Given the description of an element on the screen output the (x, y) to click on. 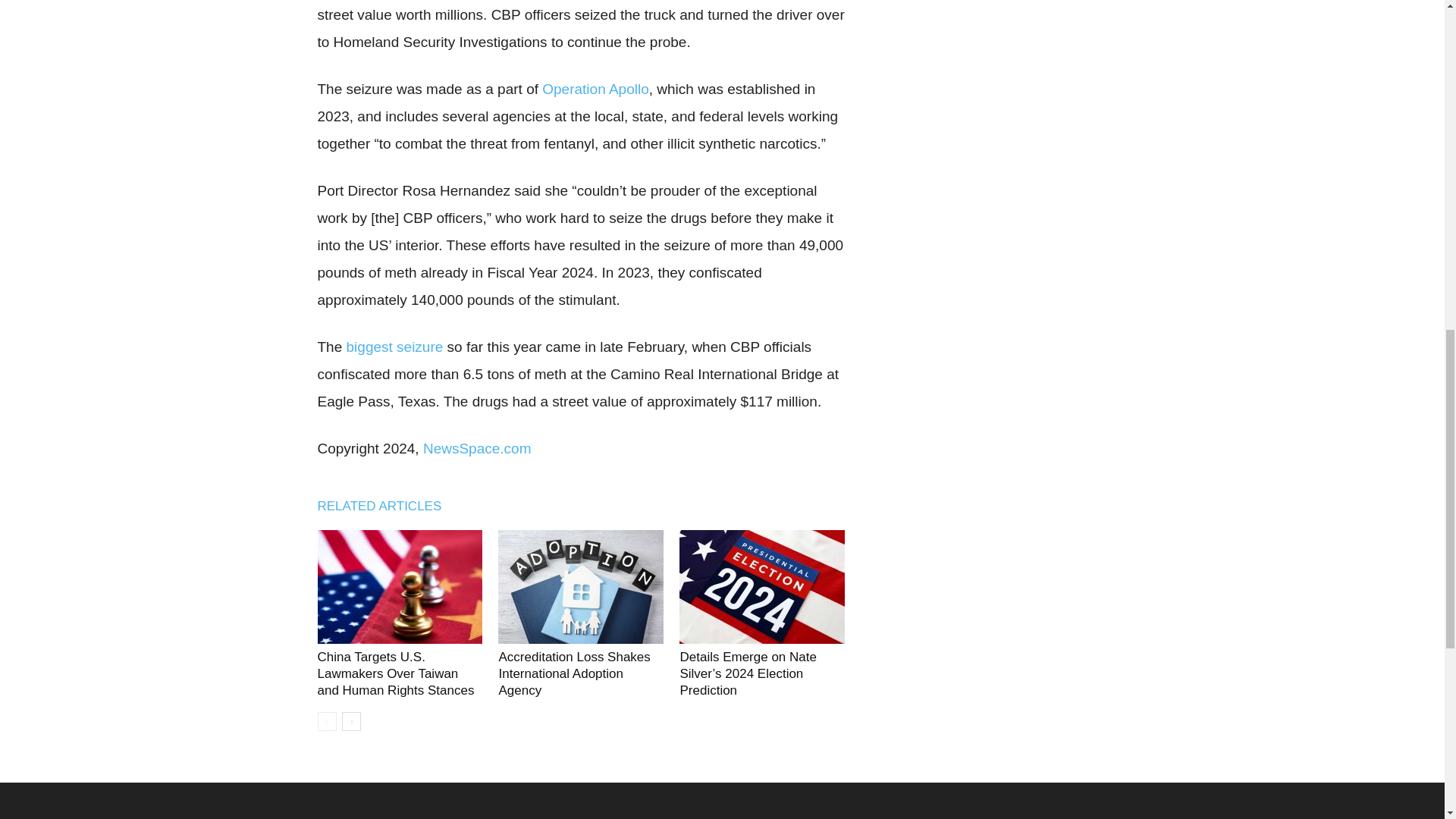
Accreditation Loss Shakes International Adoption Agency (573, 673)
biggest seizure (395, 346)
Operation Apollo (595, 89)
NewsSpace.com (477, 448)
RELATED ARTICLES (387, 505)
Accreditation Loss Shakes International Adoption Agency (573, 673)
Accreditation Loss Shakes International Adoption Agency (580, 586)
